Given the description of an element on the screen output the (x, y) to click on. 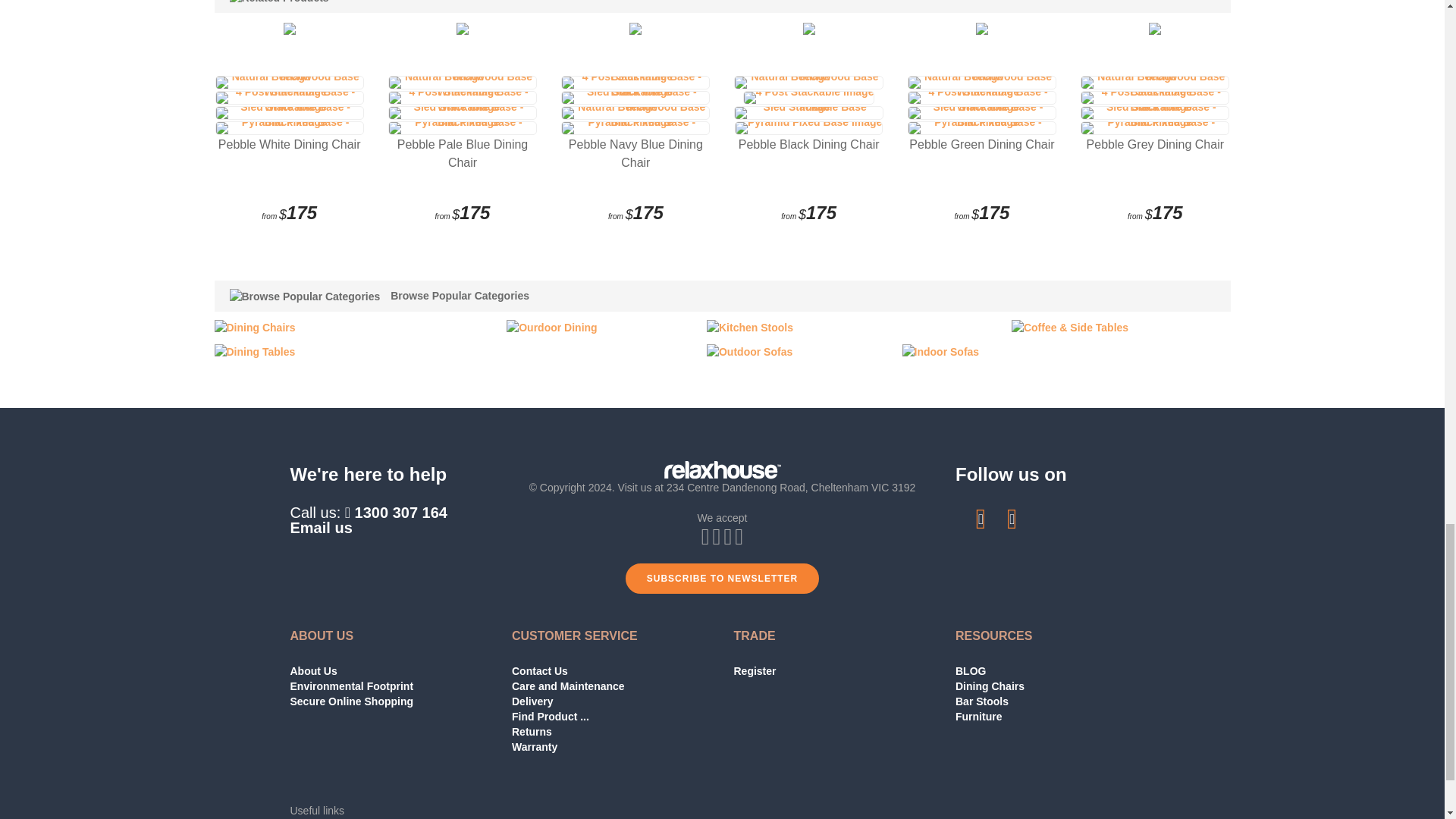
Outdoor Sofas (749, 349)
Indoor Sofas (940, 349)
Kitchen Stools (749, 326)
Dining Tables (254, 349)
Dining Chairs (254, 326)
Ourdoor Dining (551, 326)
